Given the description of an element on the screen output the (x, y) to click on. 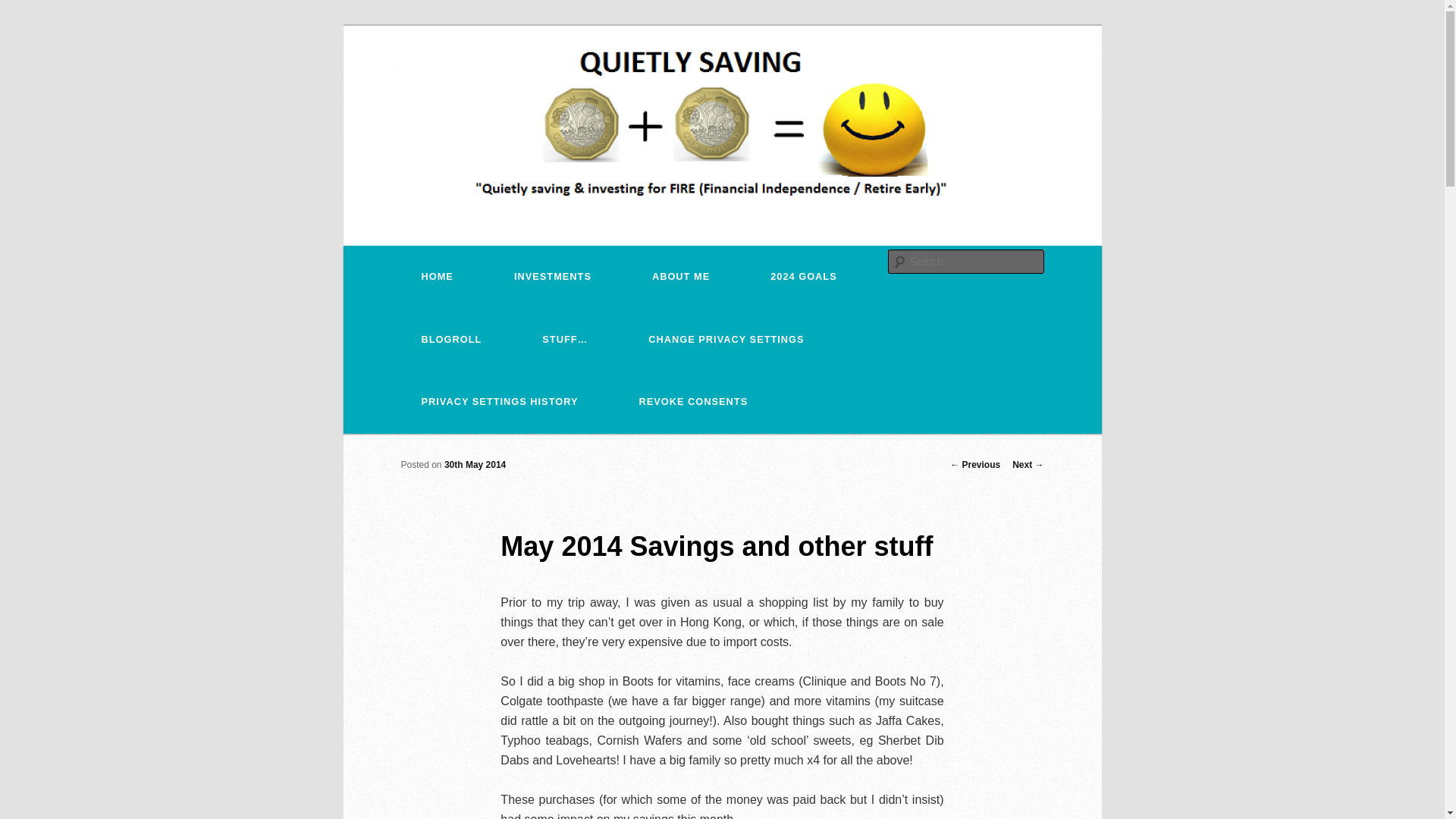
HOME (437, 276)
CHANGE PRIVACY SETTINGS (725, 339)
30th May 2014 (474, 464)
2024 GOALS (803, 276)
Quietly Saving (478, 83)
BLOGROLL (451, 339)
ABOUT ME (680, 276)
PRIVACY SETTINGS HISTORY (499, 402)
Search (24, 8)
INVESTMENTS (552, 276)
REVOKE CONSENTS (692, 402)
